Given the description of an element on the screen output the (x, y) to click on. 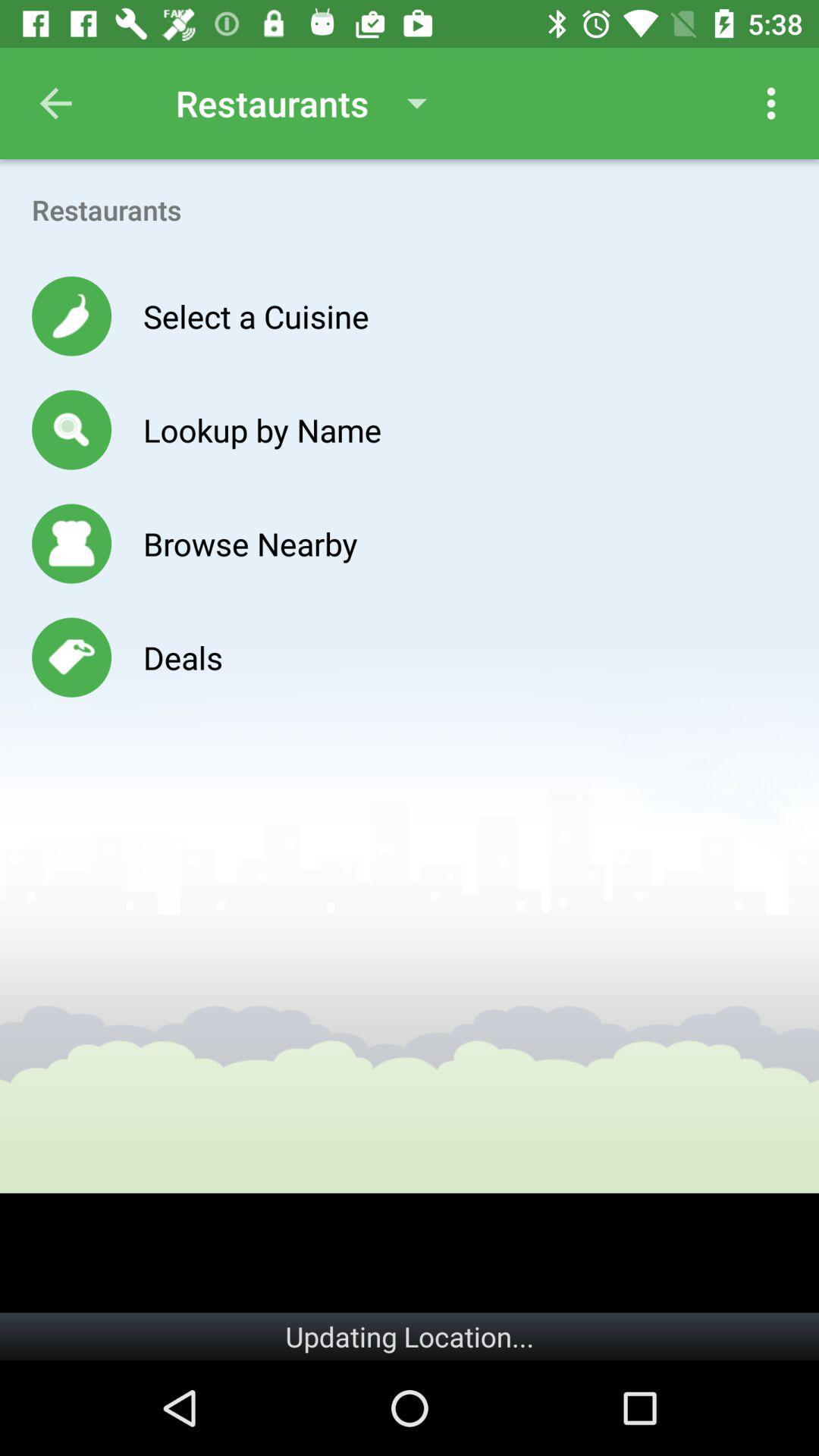
flip to updating location... item (409, 1336)
